Given the description of an element on the screen output the (x, y) to click on. 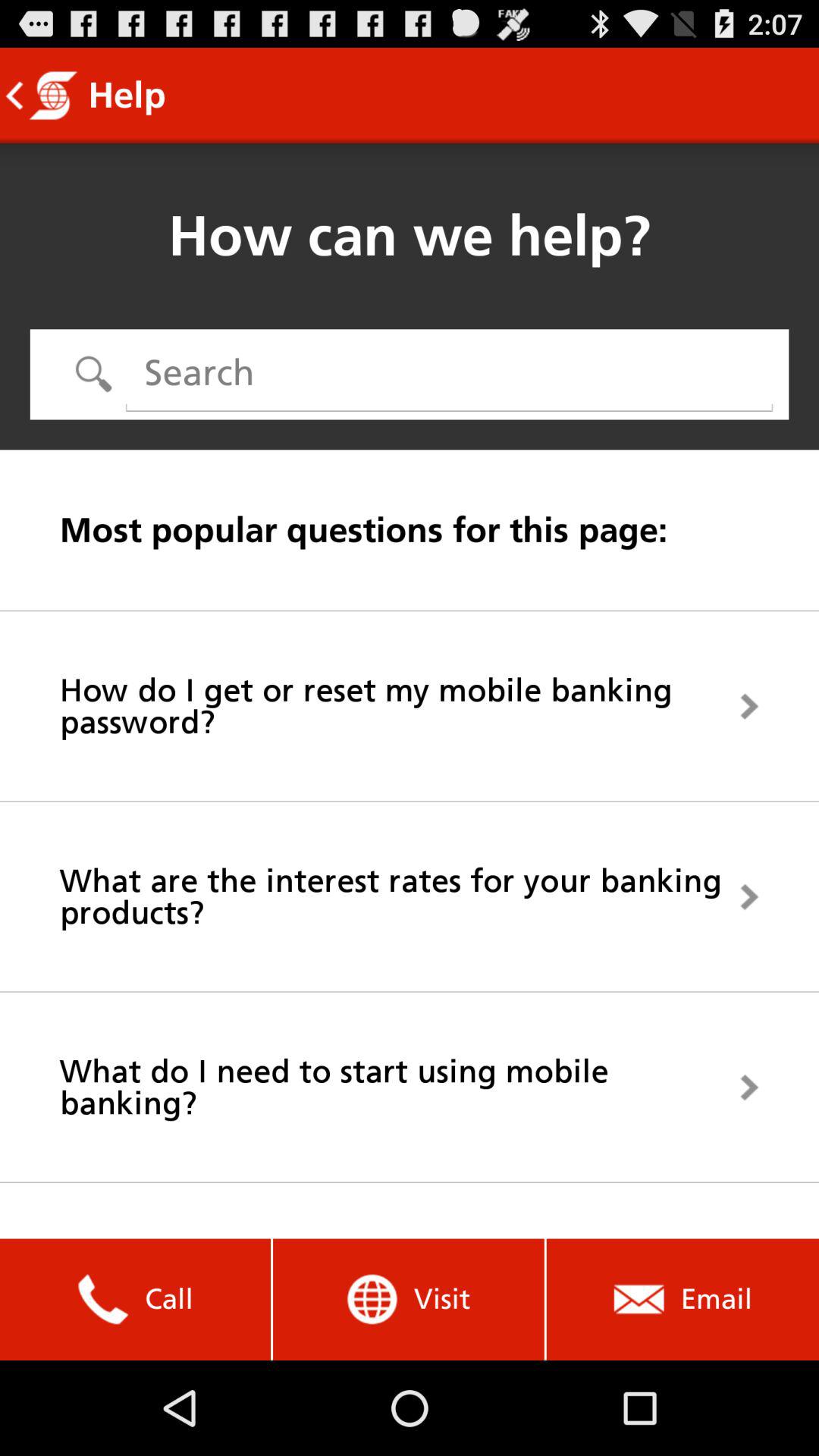
press the app below how do i item (409, 896)
